Given the description of an element on the screen output the (x, y) to click on. 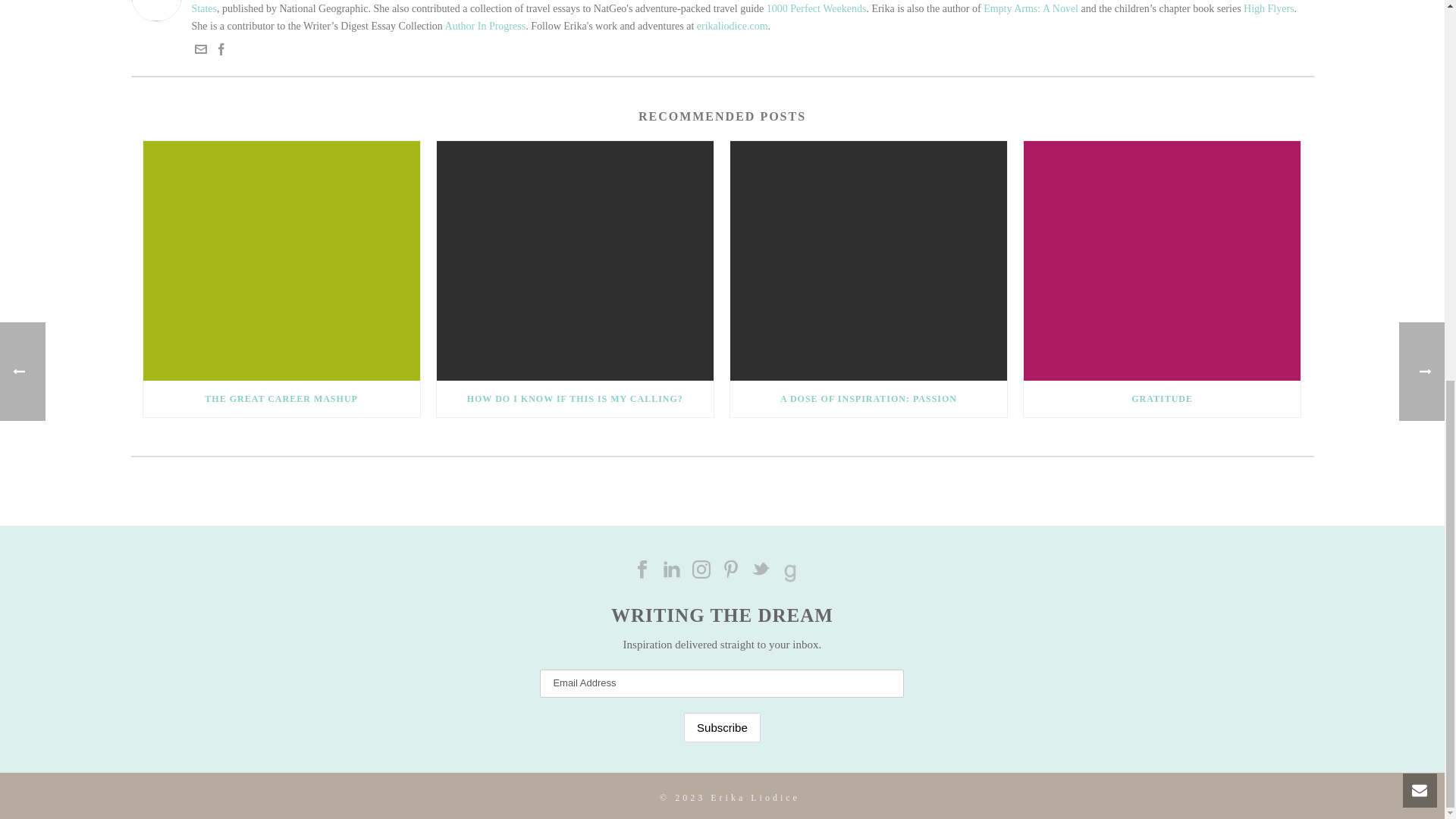
Subscribe (722, 727)
How do I know if this is my calling? (574, 260)
Follow me on pinterest (730, 569)
Email Address (722, 683)
Follow me on linkedin (671, 569)
Follow me on twitter (760, 569)
The Great Career Mashup (280, 260)
A Dose of Inspiration: Passion (868, 260)
Gratitude (1161, 260)
Get in touch with me via email (199, 51)
Follow me on instagram (701, 569)
Follow me on facebook (641, 569)
Follow me on Facebook (221, 51)
